Given the description of an element on the screen output the (x, y) to click on. 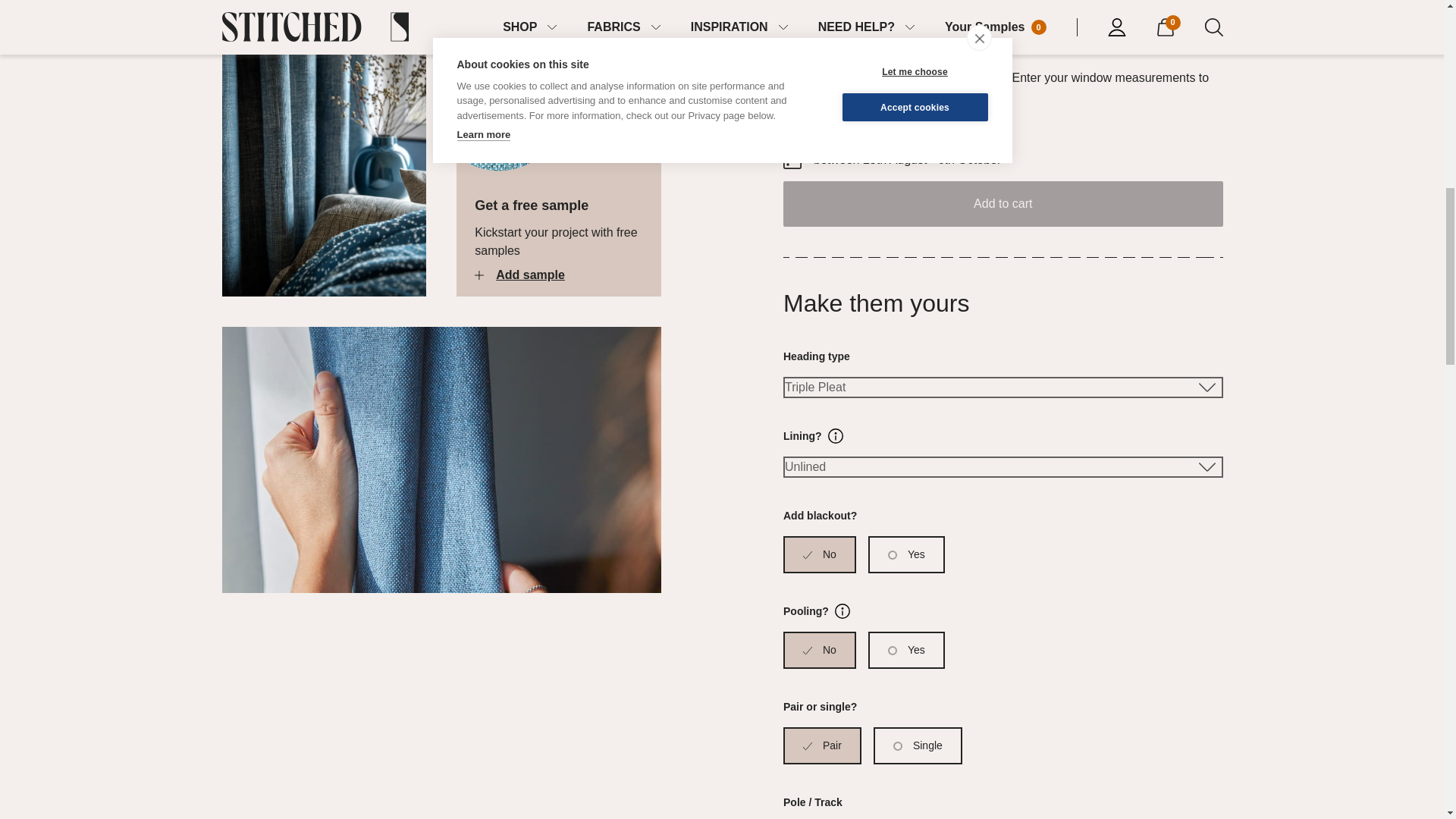
tooltip (835, 435)
tooltip (842, 611)
